Given the description of an element on the screen output the (x, y) to click on. 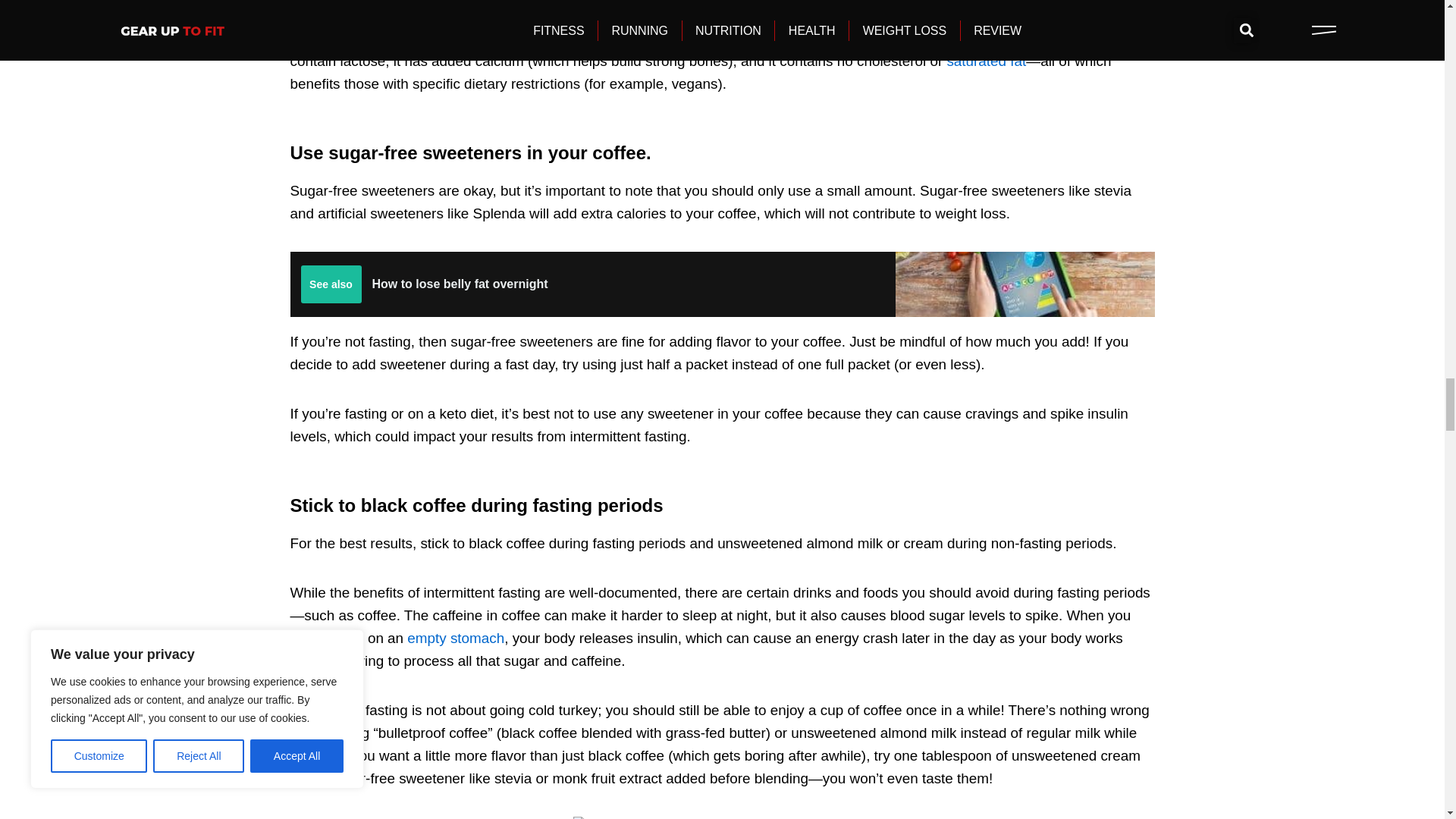
Benefits of Training on an Empty Stomach (455, 637)
